Given the description of an element on the screen output the (x, y) to click on. 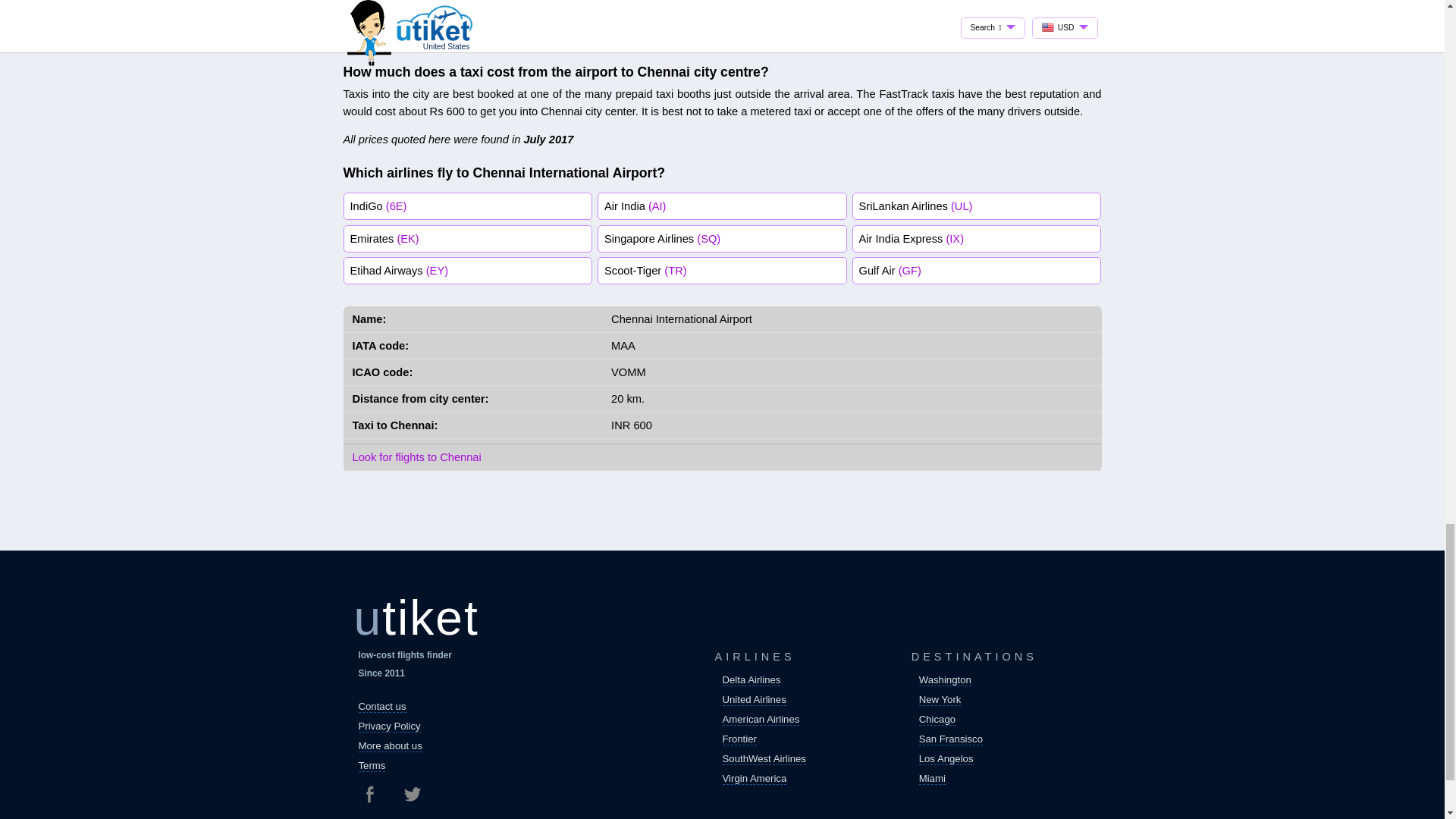
Utiket on Twitter (411, 793)
Utiket on Facebook (374, 793)
